Given the description of an element on the screen output the (x, y) to click on. 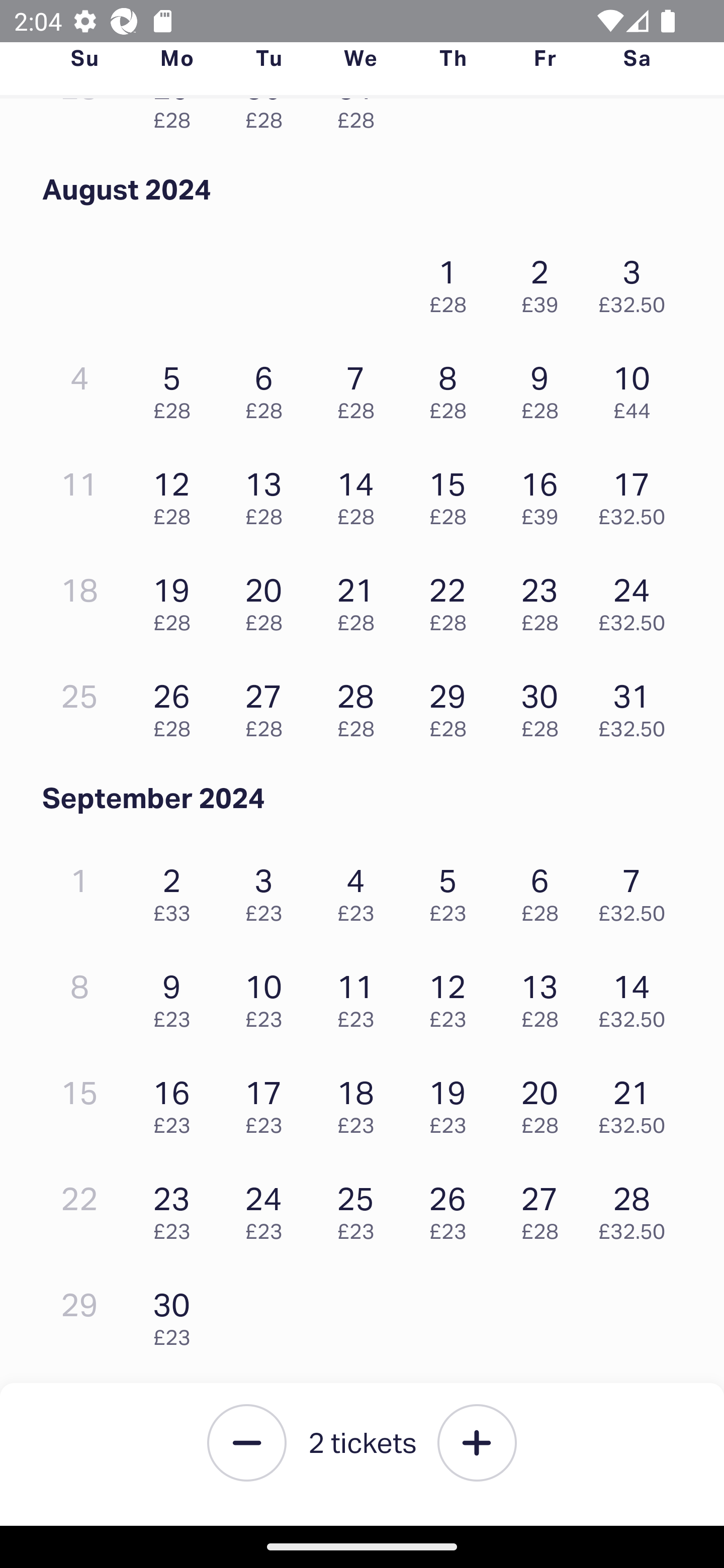
29 £28 (176, 122)
30 £28 (268, 122)
31 £28 (360, 122)
1 £28 (452, 281)
2 £39 (544, 281)
3 £32.50 (636, 281)
5 £28 (176, 387)
6 £28 (268, 387)
7 £28 (360, 387)
8 £28 (452, 387)
9 £28 (544, 387)
10 £44 (636, 387)
12 £28 (176, 492)
13 £28 (268, 492)
14 £28 (360, 492)
15 £28 (452, 492)
16 £39 (544, 492)
17 £32.50 (636, 492)
19 £28 (176, 599)
20 £28 (268, 599)
21 £28 (360, 599)
22 £28 (452, 599)
23 £28 (544, 599)
24 £32.50 (636, 599)
26 £28 (176, 705)
27 £28 (268, 705)
28 £28 (360, 705)
29 £28 (452, 705)
30 £28 (544, 705)
31 £32.50 (636, 705)
2 £33 (176, 889)
3 £23 (268, 889)
4 £23 (360, 889)
5 £23 (452, 889)
6 £28 (544, 889)
7 £32.50 (636, 889)
9 £23 (176, 996)
10 £23 (268, 996)
11 £23 (360, 996)
12 £23 (452, 996)
13 £28 (544, 996)
14 £32.50 (636, 996)
16 £23 (176, 1102)
17 £23 (268, 1102)
18 £23 (360, 1102)
19 £23 (452, 1102)
20 £28 (544, 1102)
21 £32.50 (636, 1102)
23 £23 (176, 1207)
24 £23 (268, 1207)
